Given the description of an element on the screen output the (x, y) to click on. 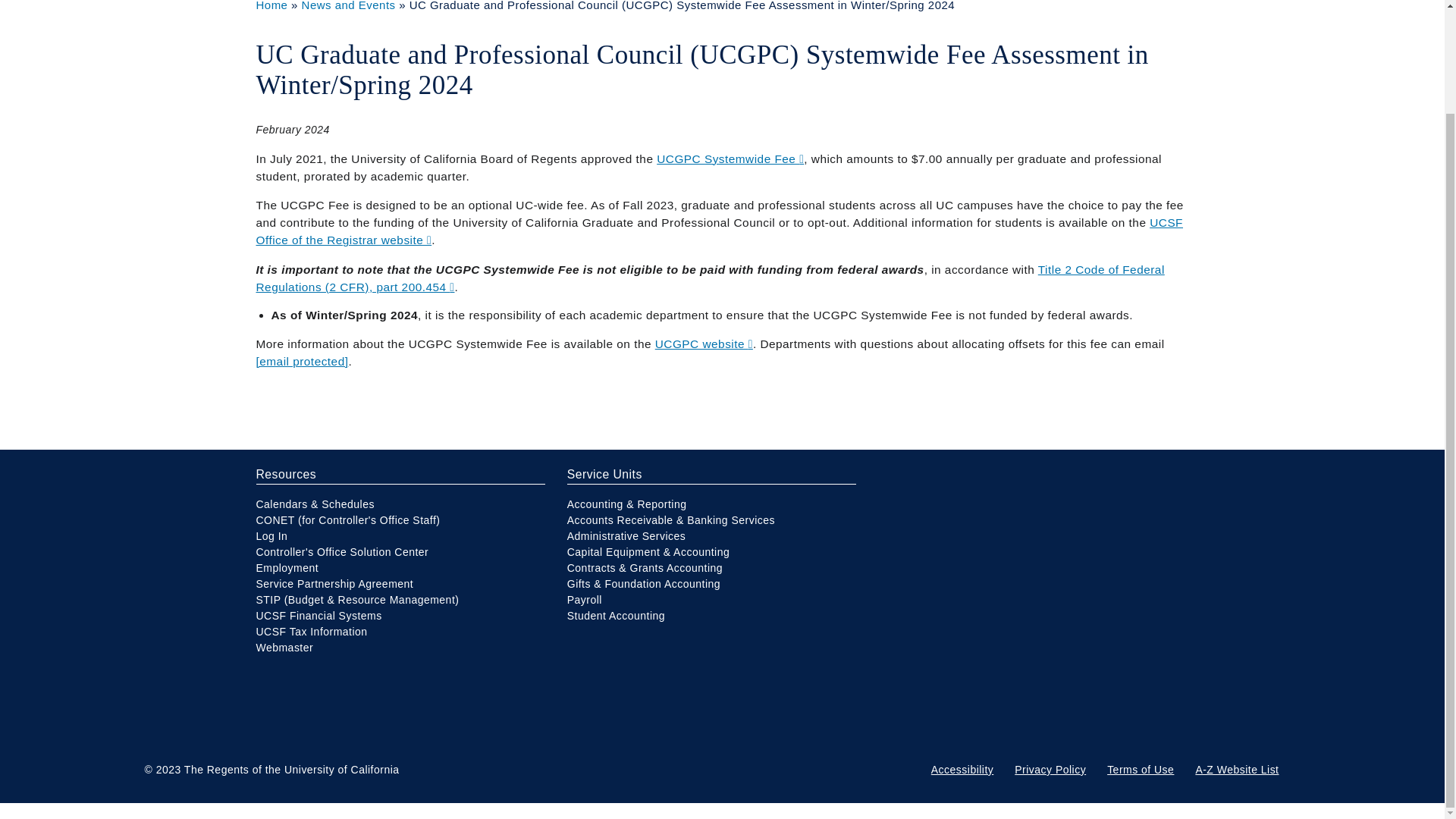
Administrative Services (626, 535)
Webmaster (285, 647)
Controller's Office Solution Center (342, 551)
Service Partnership Agreement (334, 583)
UCGPC Systemwide Fee (729, 158)
Home (272, 5)
UCSF Tax Information (312, 631)
UCGPC website (703, 343)
Employment (287, 567)
UCSF Financial Systems (318, 615)
